Given the description of an element on the screen output the (x, y) to click on. 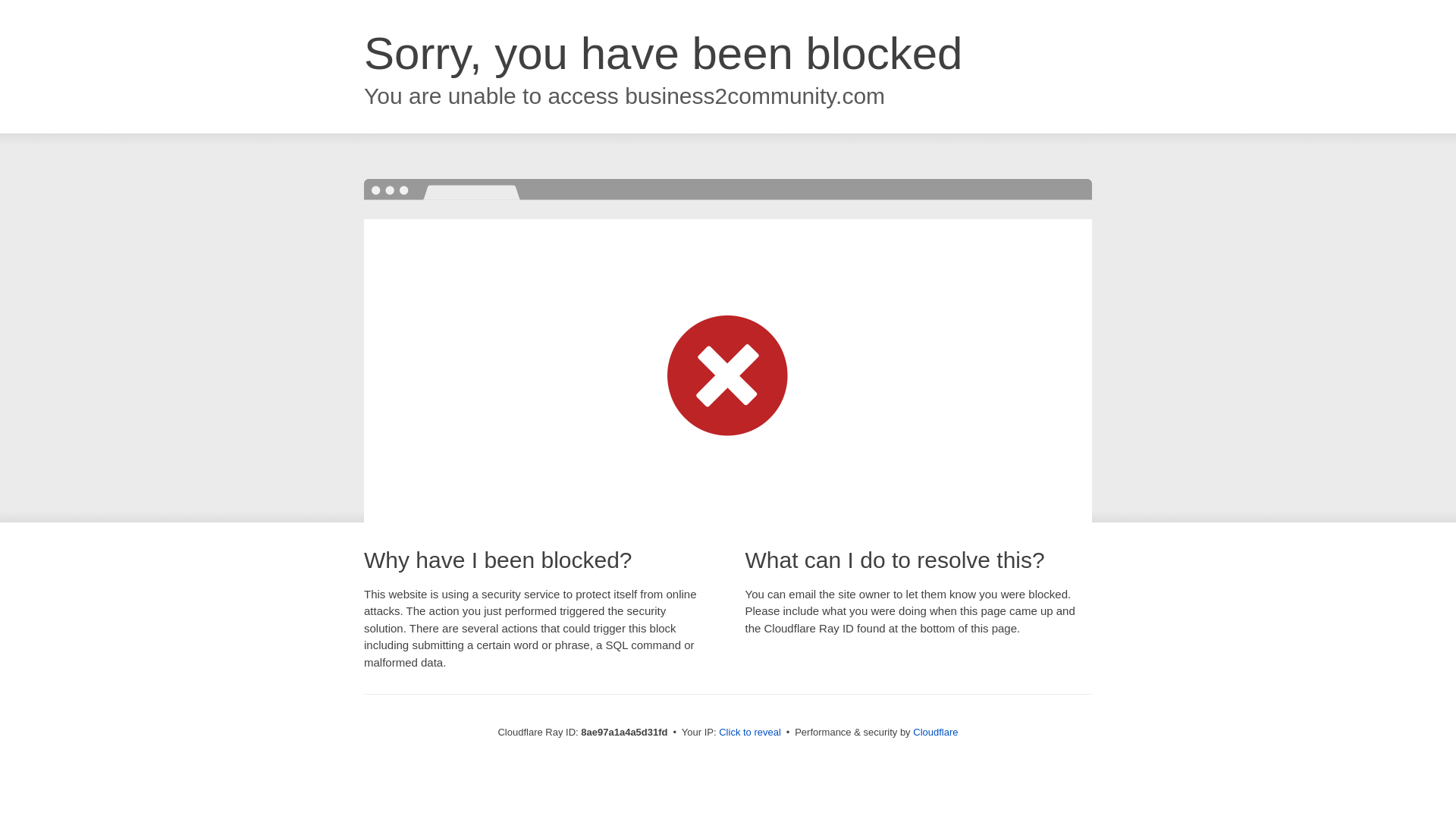
Click to reveal (749, 732)
Cloudflare (935, 731)
